Given the description of an element on the screen output the (x, y) to click on. 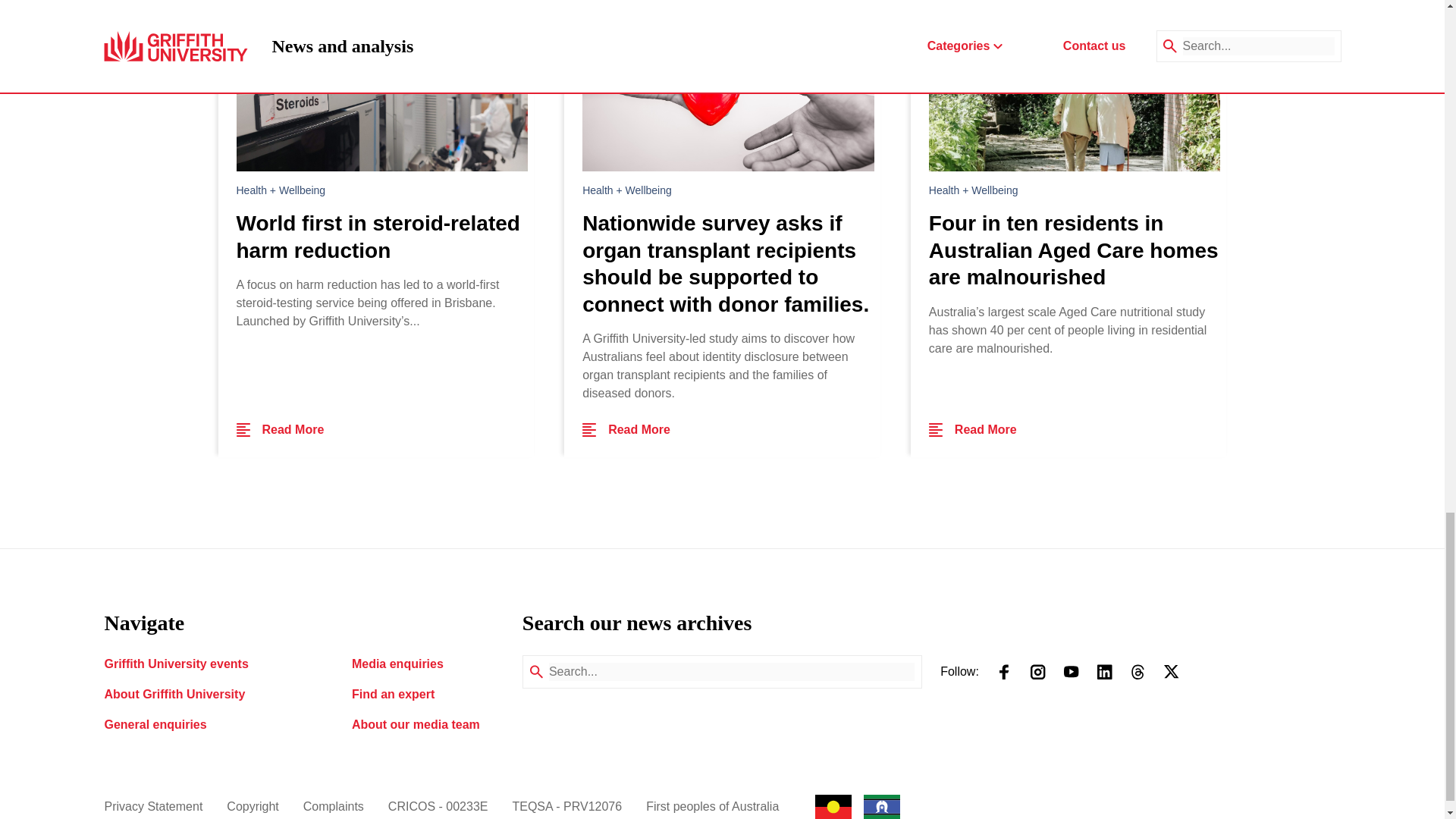
Read More (279, 429)
World first in steroid-related harm reduction   (381, 236)
